Given the description of an element on the screen output the (x, y) to click on. 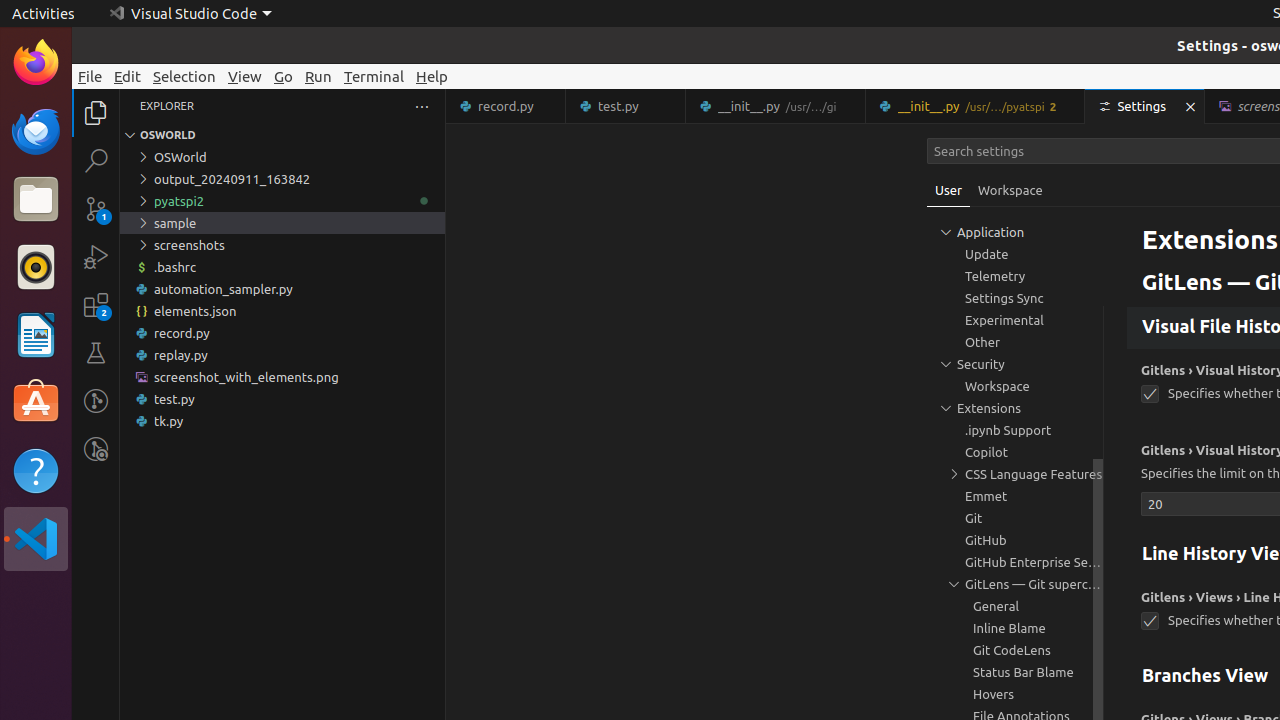
Other, group Element type: tree-item (1015, 342)
Workspace Element type: check-box (1010, 190)
output_20240911_163842 Element type: tree-item (282, 179)
Settings Element type: page-tab (1145, 106)
